Given the description of an element on the screen output the (x, y) to click on. 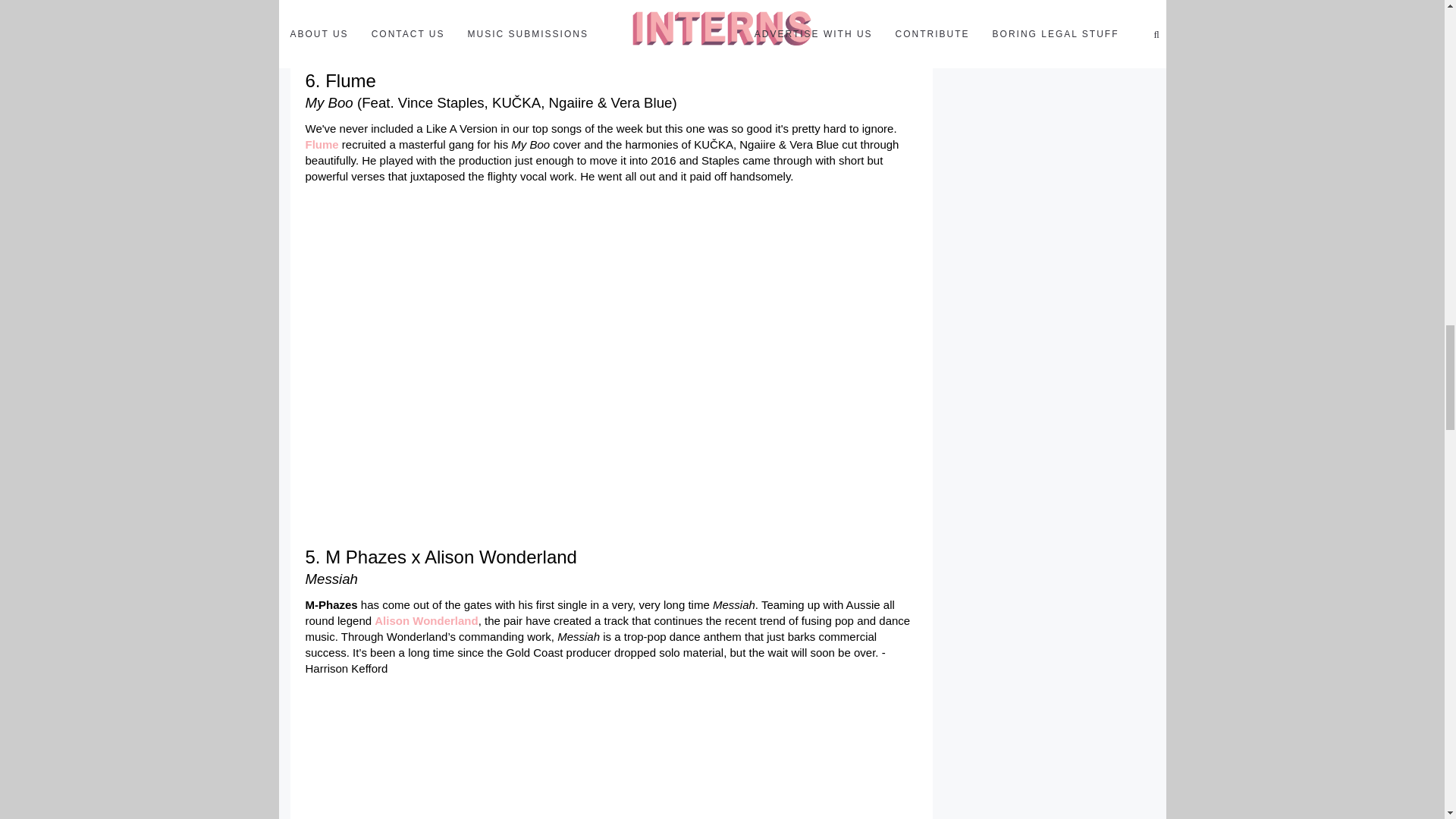
Flume (320, 144)
Alison Wonderland (425, 620)
